Given the description of an element on the screen output the (x, y) to click on. 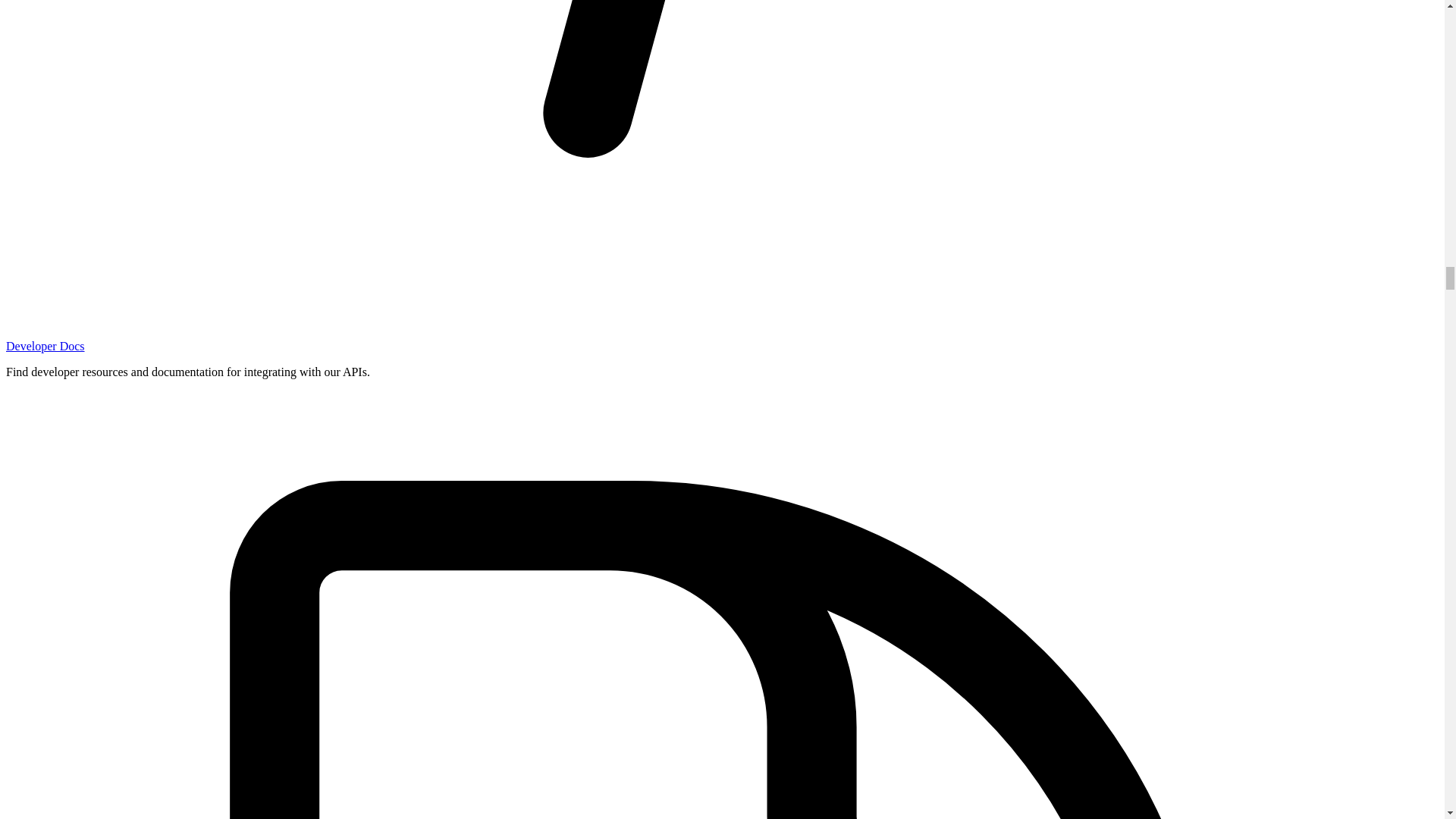
Developer Docs (44, 345)
Developer Docs (44, 345)
